Given the description of an element on the screen output the (x, y) to click on. 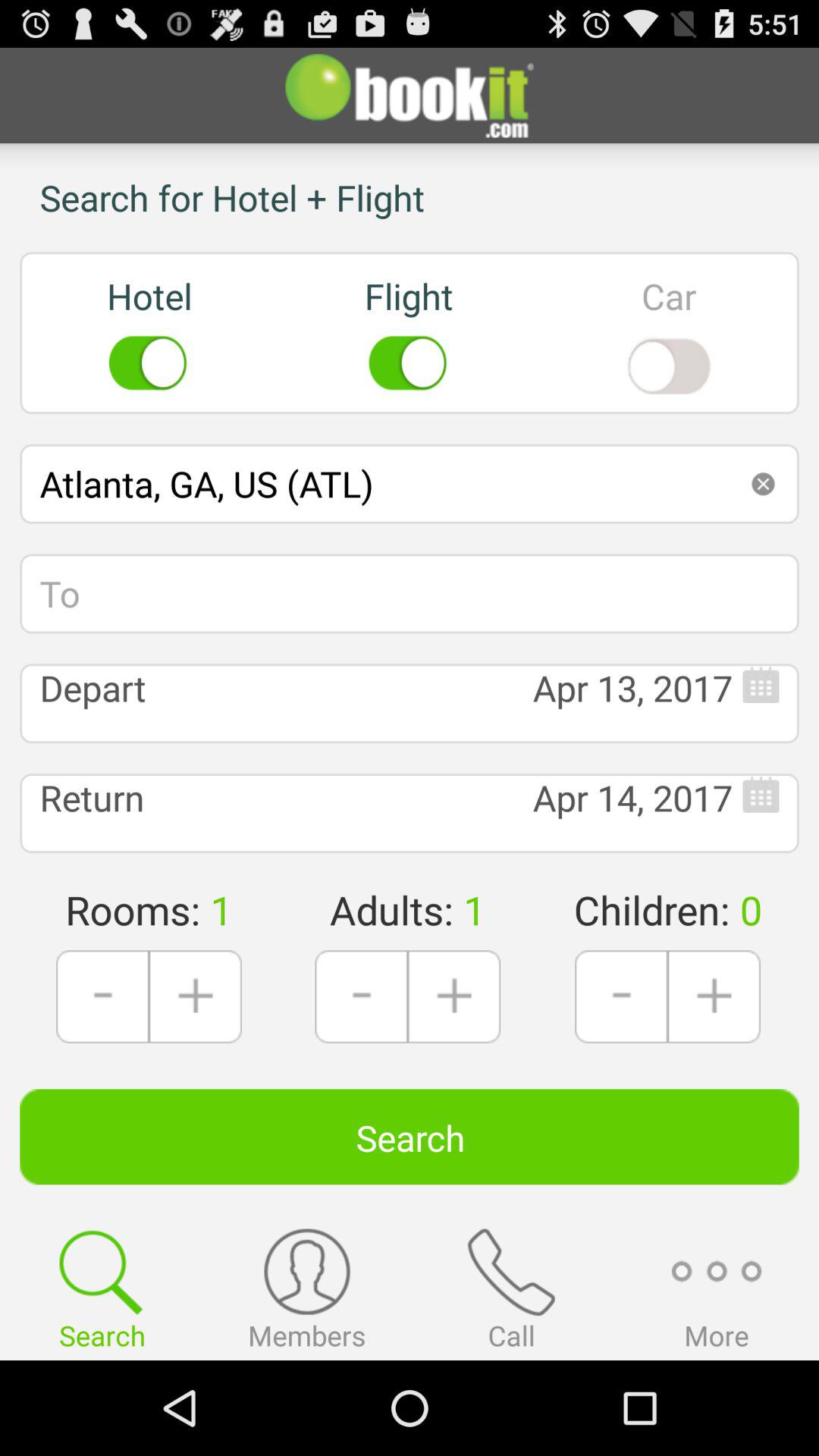
select atlanta ga us (409, 483)
